Given the description of an element on the screen output the (x, y) to click on. 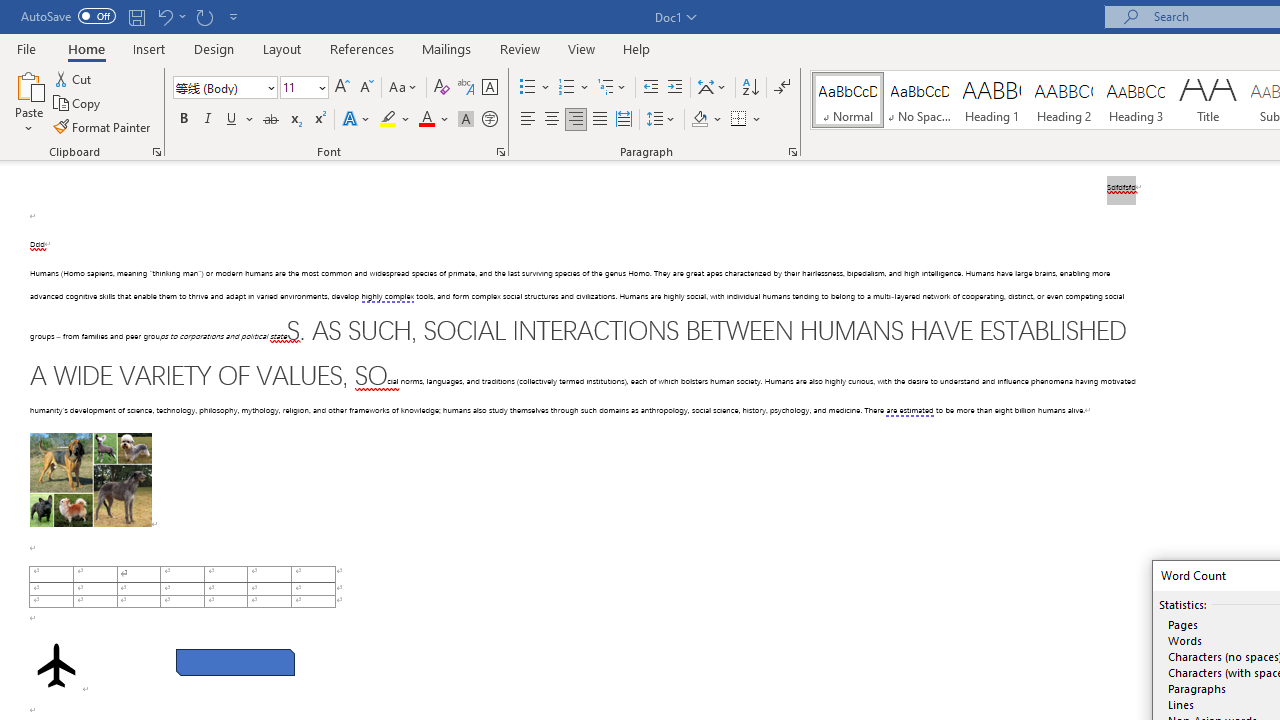
Airplane with solid fill (56, 665)
Font Color Red (426, 119)
